Given the description of an element on the screen output the (x, y) to click on. 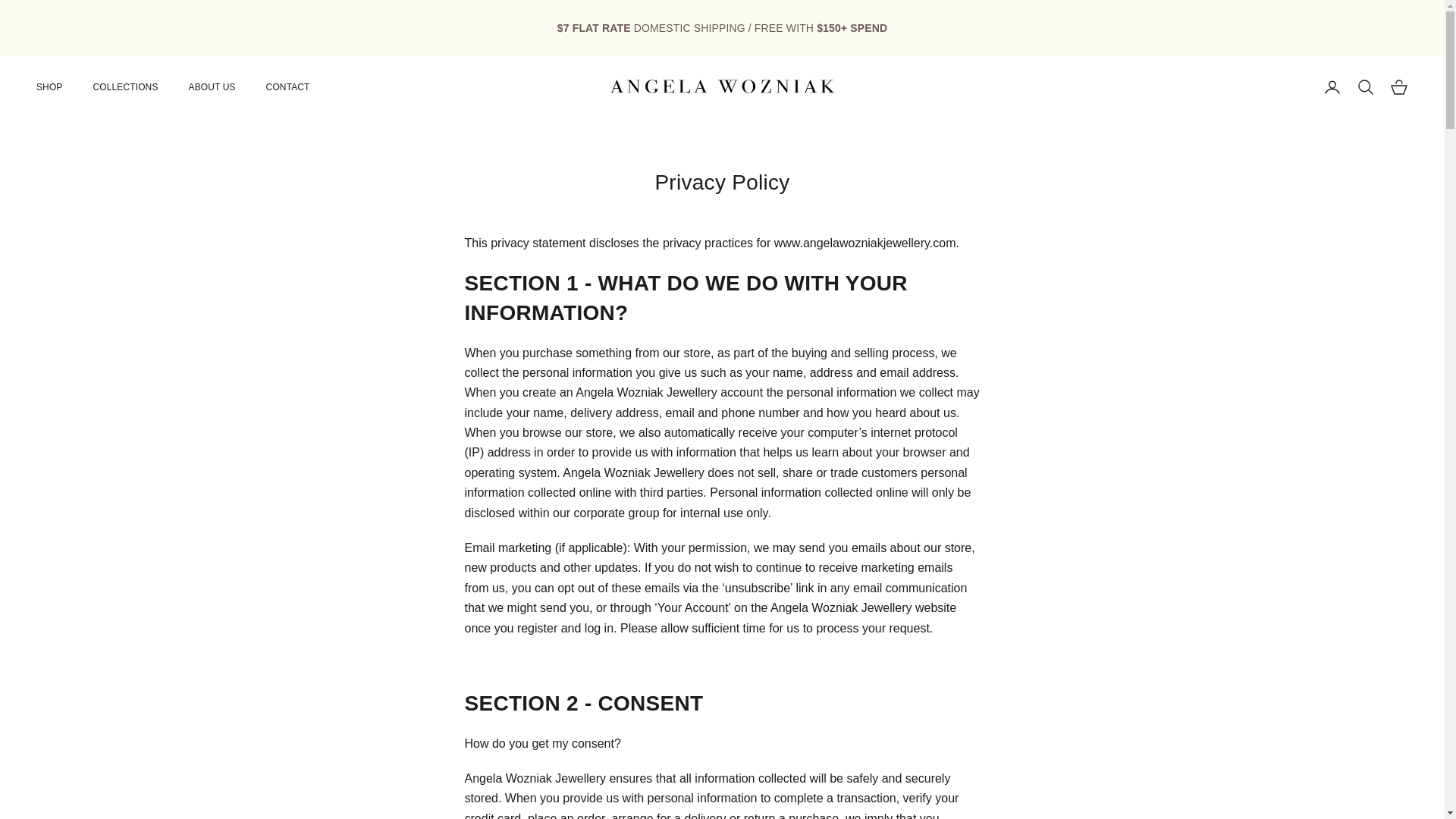
Open account page (1331, 86)
Angela Wozniak Jewellery (721, 87)
CONTACT (288, 87)
Open search (1365, 86)
Open cart (1398, 86)
